Given the description of an element on the screen output the (x, y) to click on. 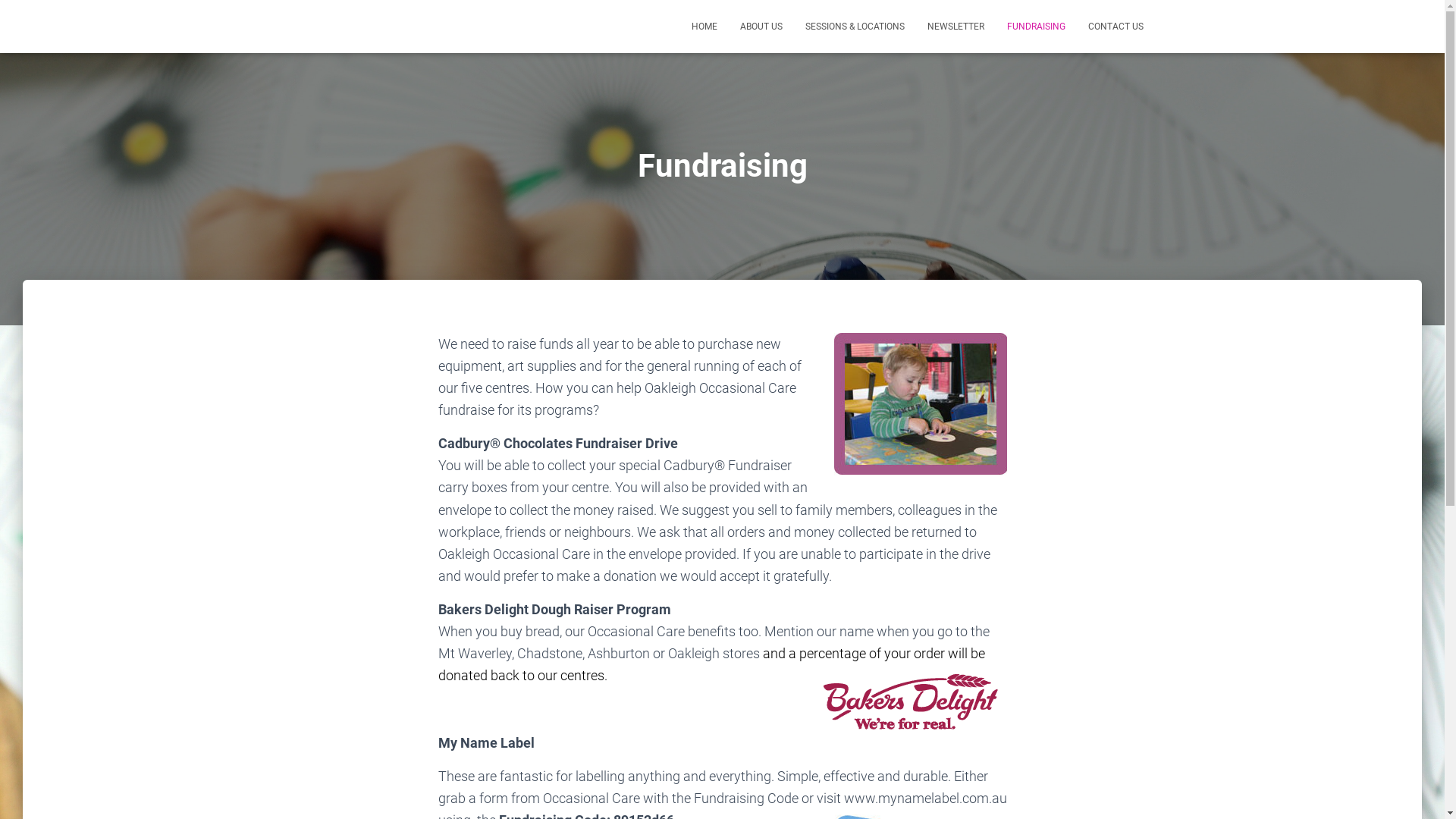
HOME Element type: text (703, 26)
bakersDelightlogo Element type: hover (913, 705)
CONTACT US Element type: text (1115, 26)
NEWSLETTER Element type: text (955, 26)
occasionalCare10 Element type: hover (920, 403)
FUNDRAISING Element type: text (1035, 26)
SESSIONS & LOCATIONS Element type: text (854, 26)
ABOUT US Element type: text (760, 26)
